Given the description of an element on the screen output the (x, y) to click on. 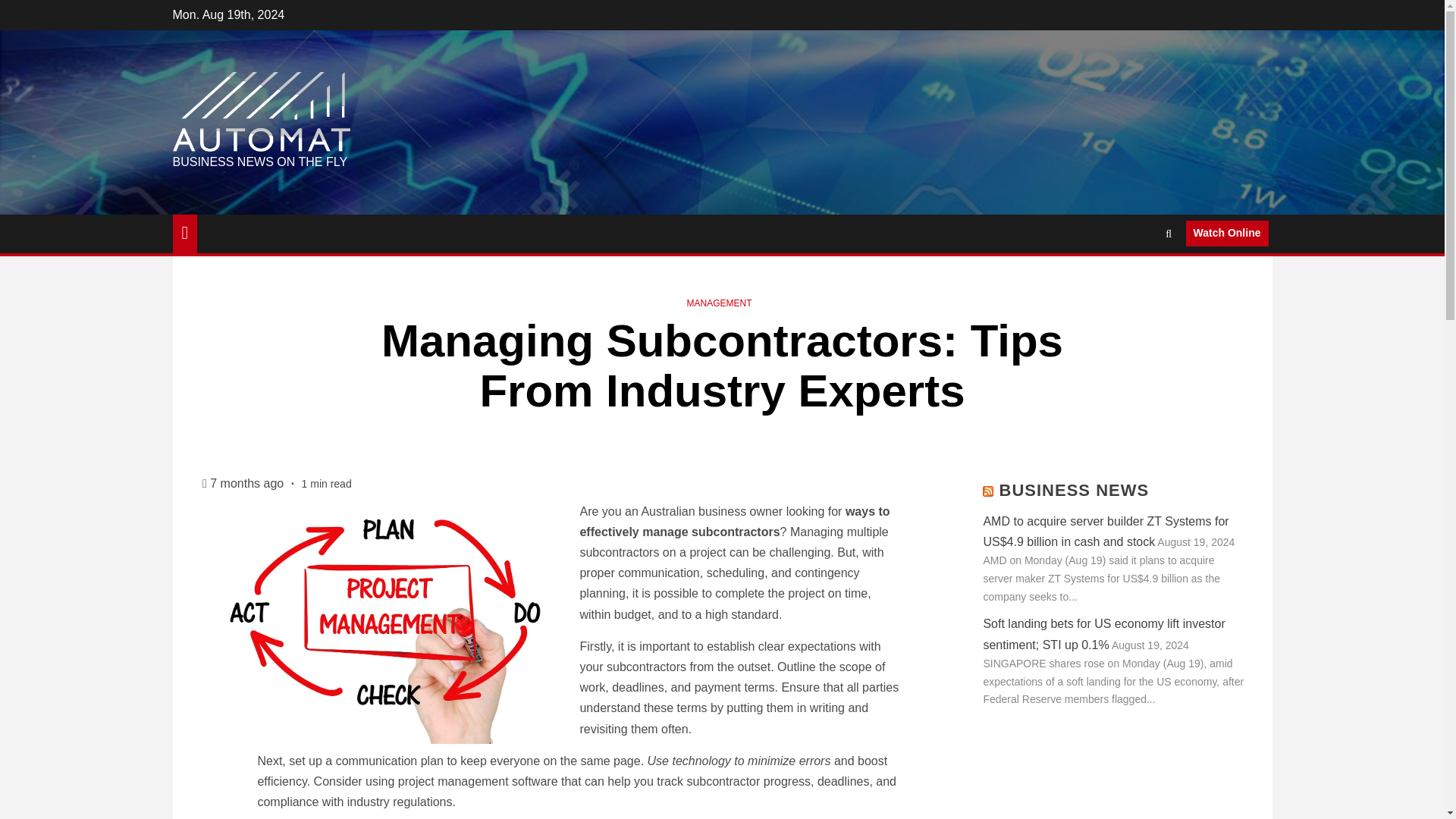
Watch Online (1227, 233)
MANAGEMENT (718, 302)
BUSINESS NEWS (1074, 489)
Search (1138, 279)
